Given the description of an element on the screen output the (x, y) to click on. 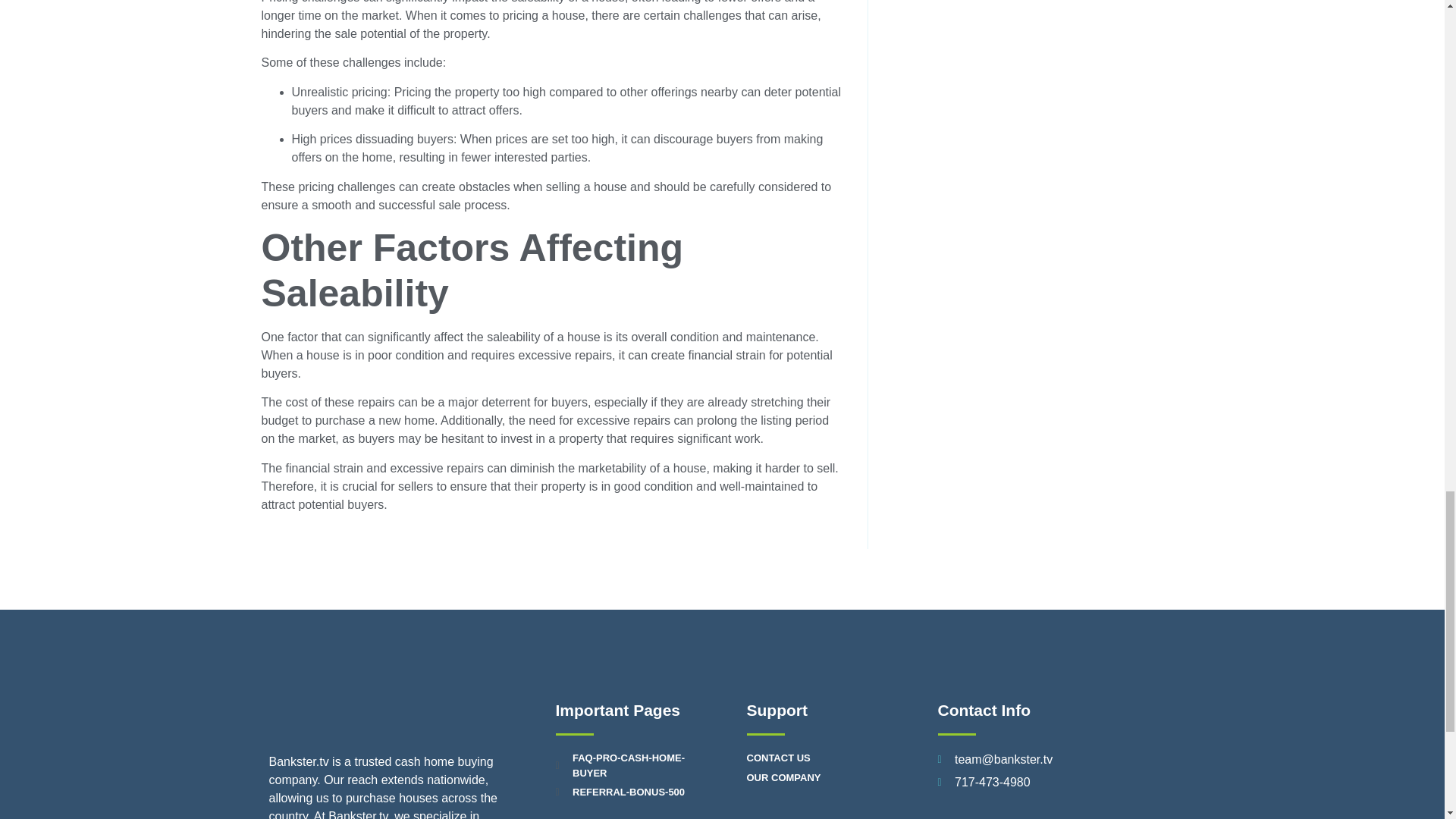
CONTACT US (816, 758)
FAQ-PRO-CASH-HOME-BUYER (625, 765)
REFERRAL-BONUS-500 (625, 792)
OUR COMPANY (816, 777)
